Given the description of an element on the screen output the (x, y) to click on. 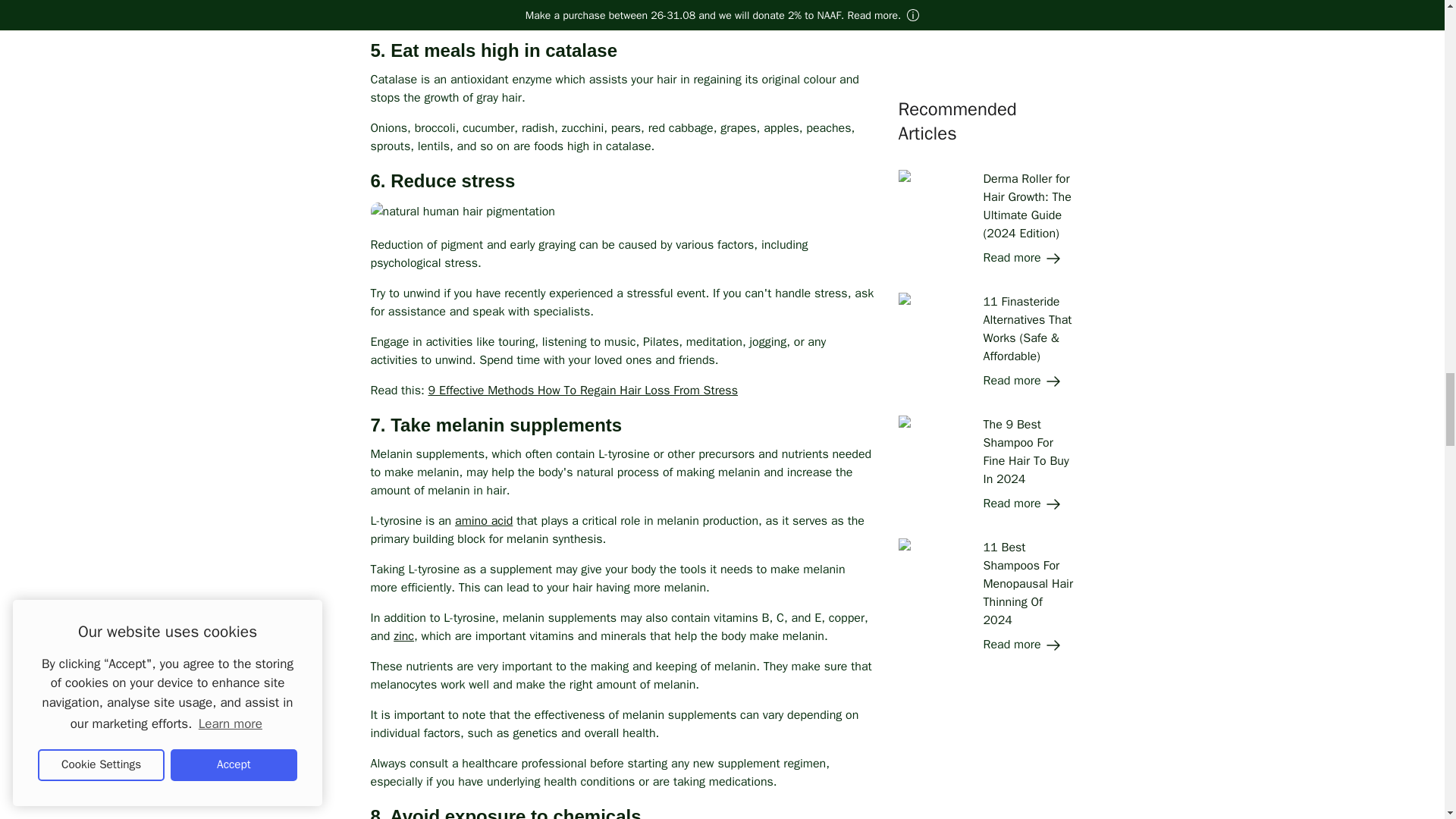
amino acid (483, 520)
zinc (403, 635)
9 Effective Methods How To Regain Hair Loss From Stress (583, 390)
